Given the description of an element on the screen output the (x, y) to click on. 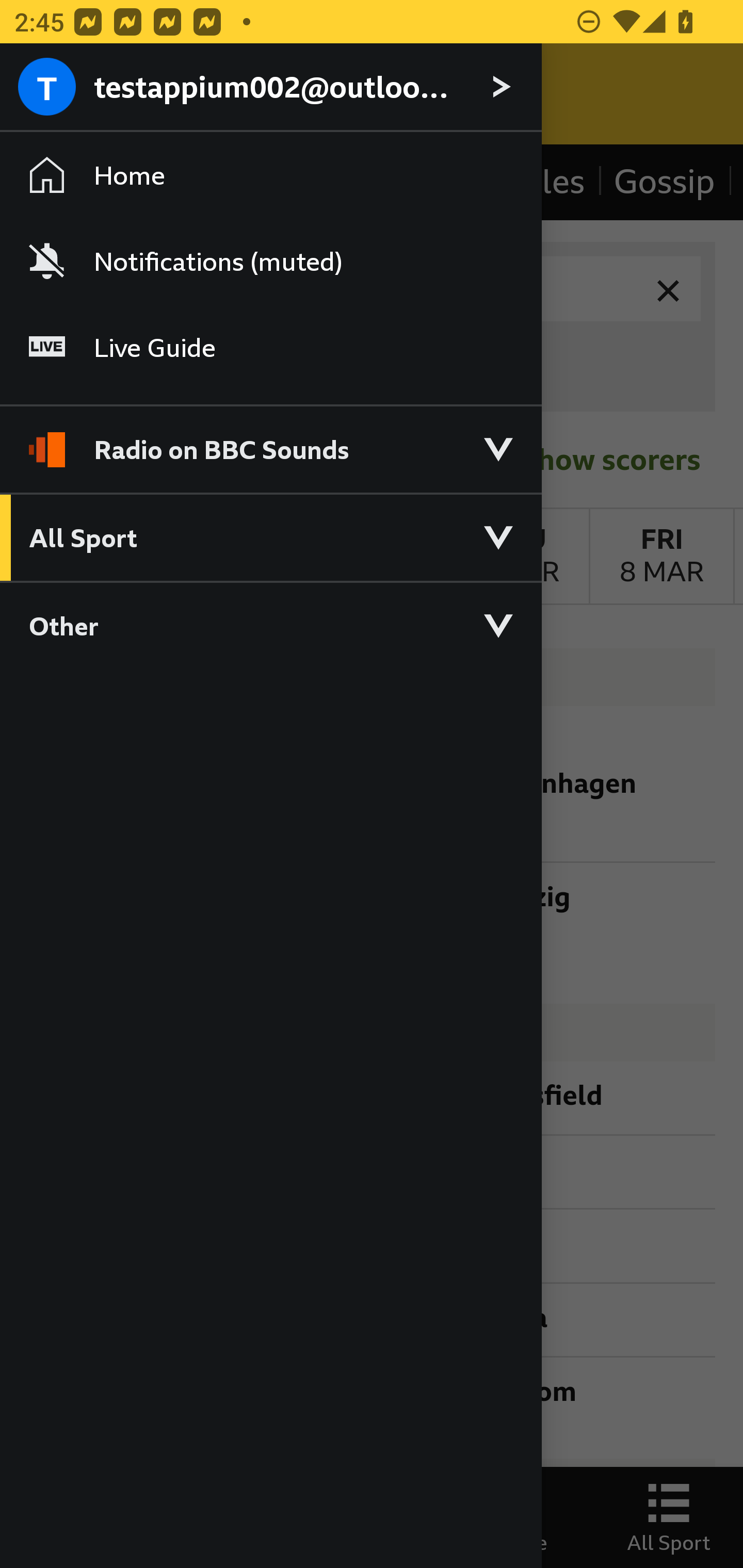
Close Menu (50, 93)
testappium002@outlook.com (270, 87)
Home (270, 174)
Notifications (muted) (270, 260)
Live Guide (270, 347)
Radio on BBC Sounds (270, 441)
All Sport (270, 536)
Other (270, 624)
